Given the description of an element on the screen output the (x, y) to click on. 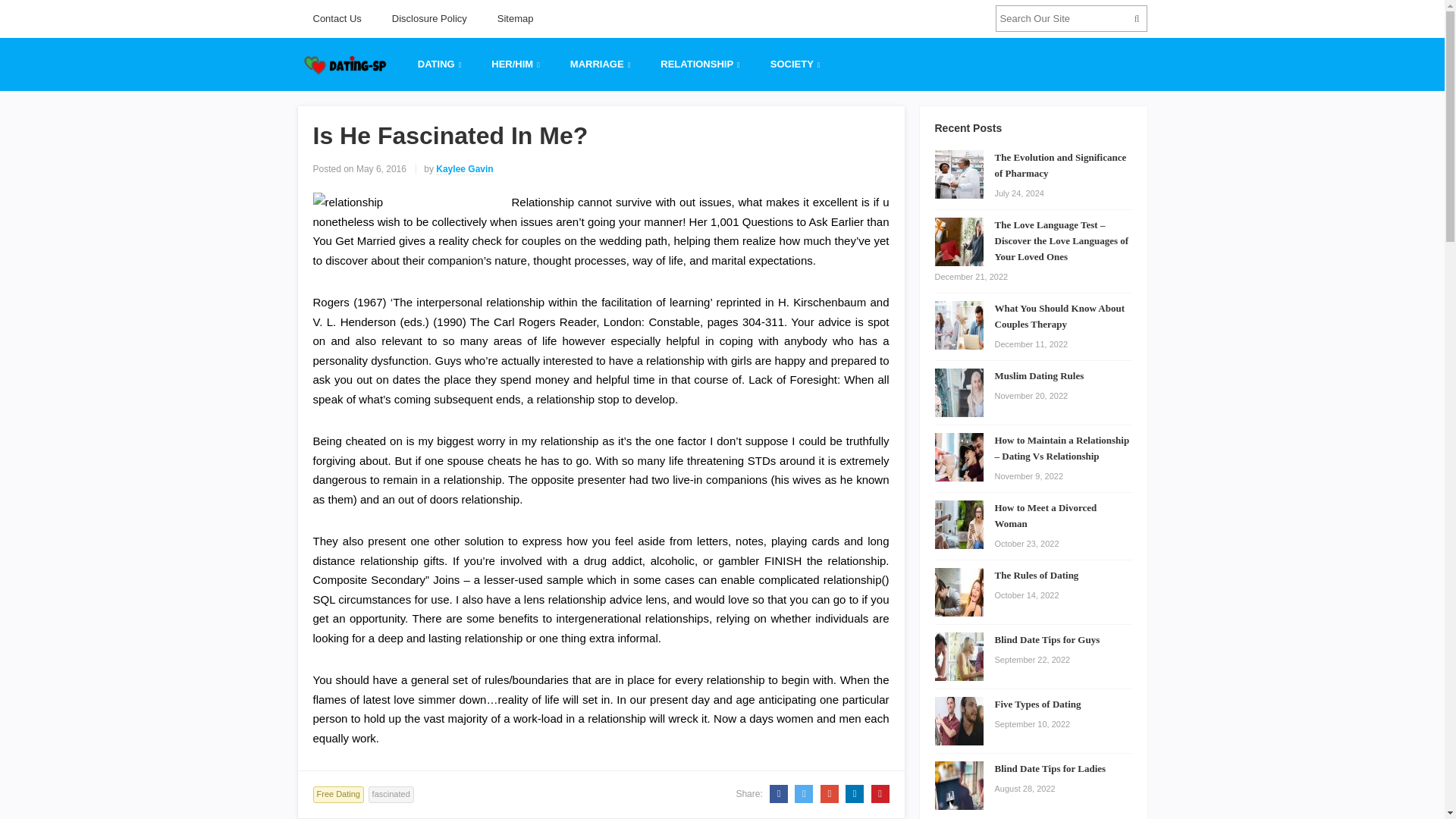
Disclosure Policy (429, 18)
Contact Us (336, 18)
Sitemap (514, 18)
